Given the description of an element on the screen output the (x, y) to click on. 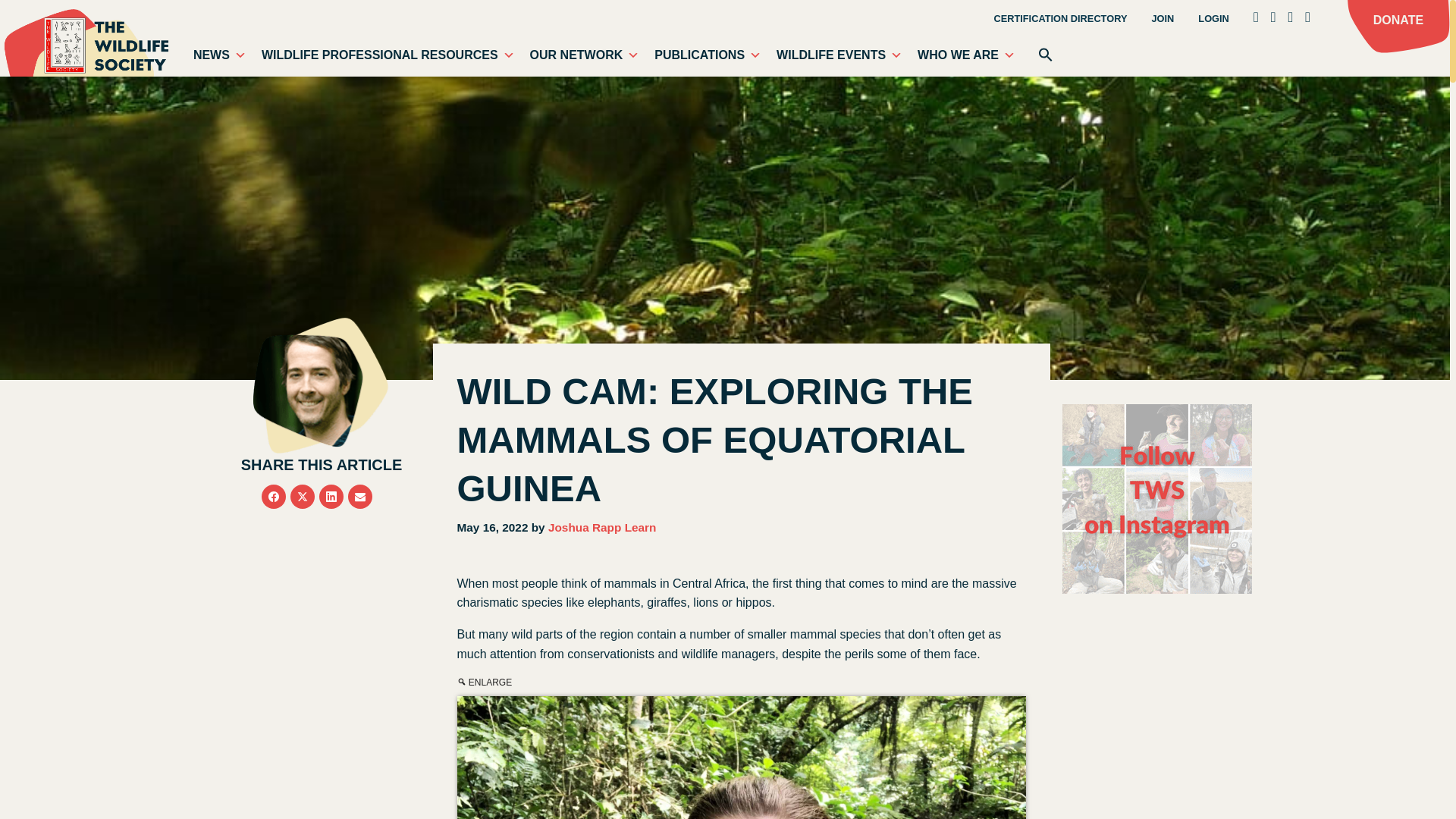
NEWS (219, 55)
WILDLIFE PROFESSIONAL RESOURCES (387, 55)
CERTIFICATION DIRECTORY (1059, 19)
LOGIN (1213, 19)
JOIN (1162, 19)
